Given the description of an element on the screen output the (x, y) to click on. 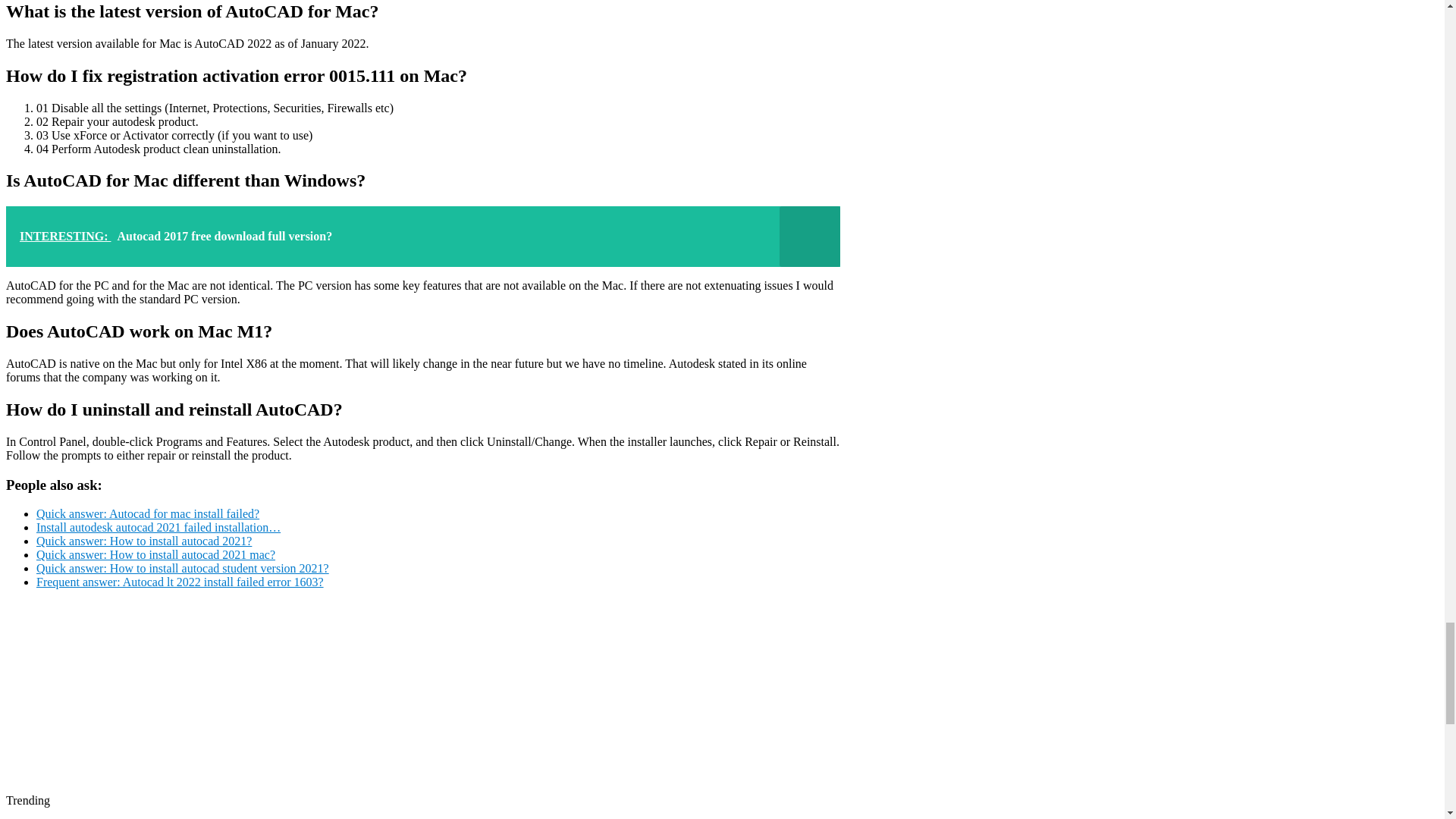
Quick answer: Autocad for mac install failed? (147, 513)
Quick answer: How to install autocad 2021? (143, 540)
INTERESTING:   Autocad 2017 free download full version? (422, 236)
Quick answer: How to install autocad 2021 mac? (155, 554)
Frequent answer: Autocad lt 2022 install failed error 1603? (179, 581)
Quick answer: How to install autocad student version 2021? (182, 567)
